Given the description of an element on the screen output the (x, y) to click on. 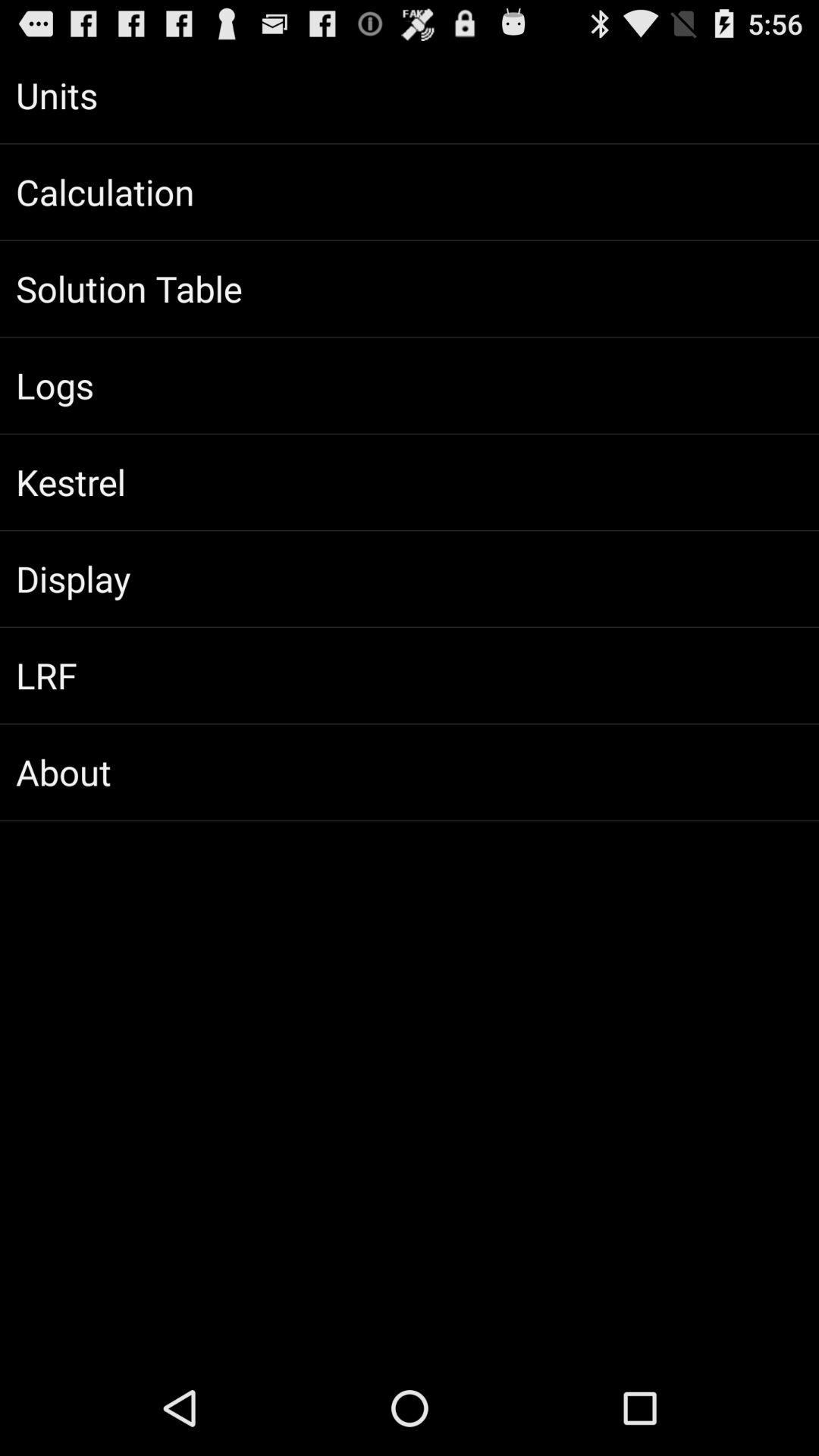
jump to logs app (409, 385)
